Given the description of an element on the screen output the (x, y) to click on. 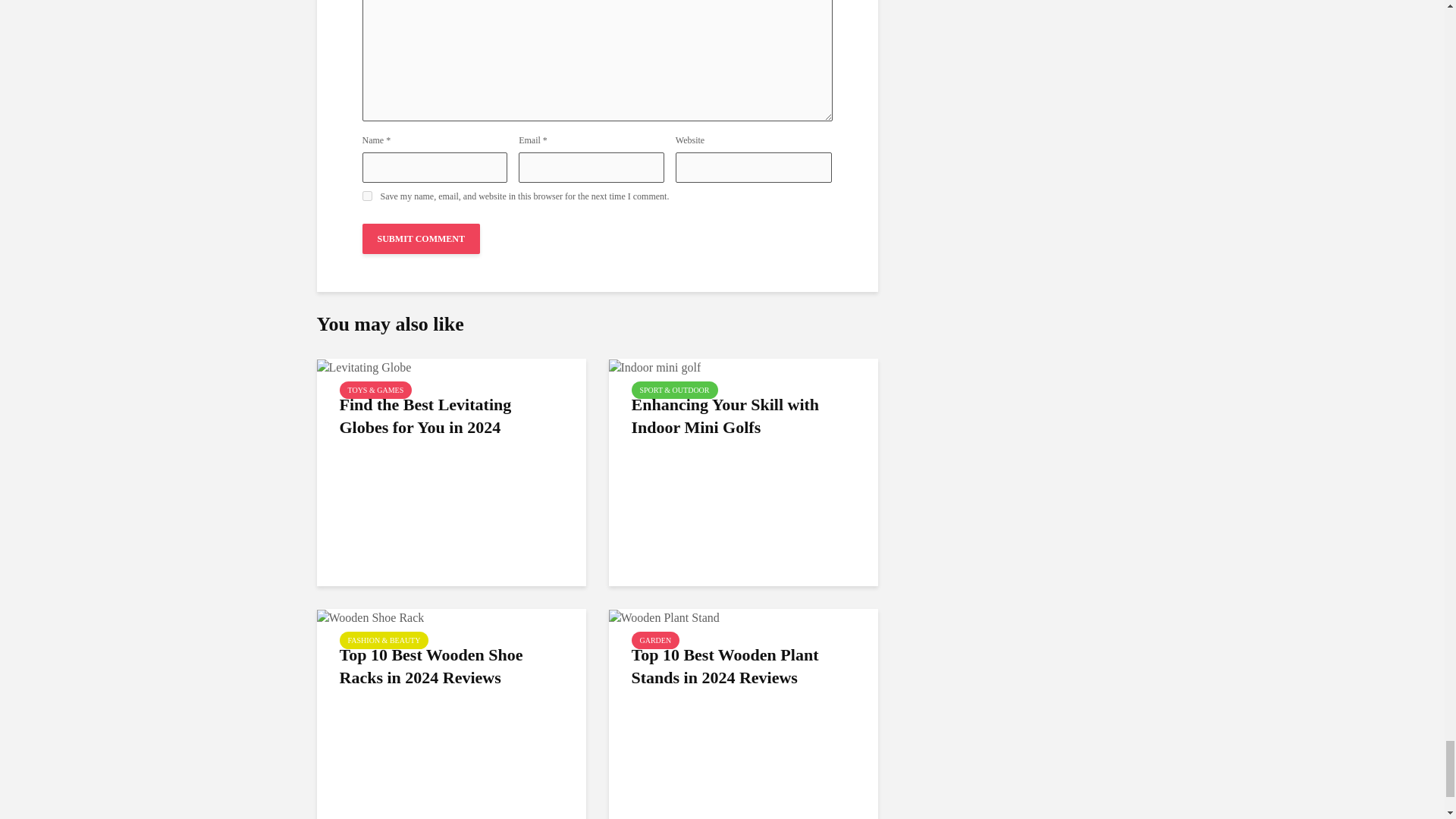
yes (367, 195)
Submit Comment (421, 238)
